Given the description of an element on the screen output the (x, y) to click on. 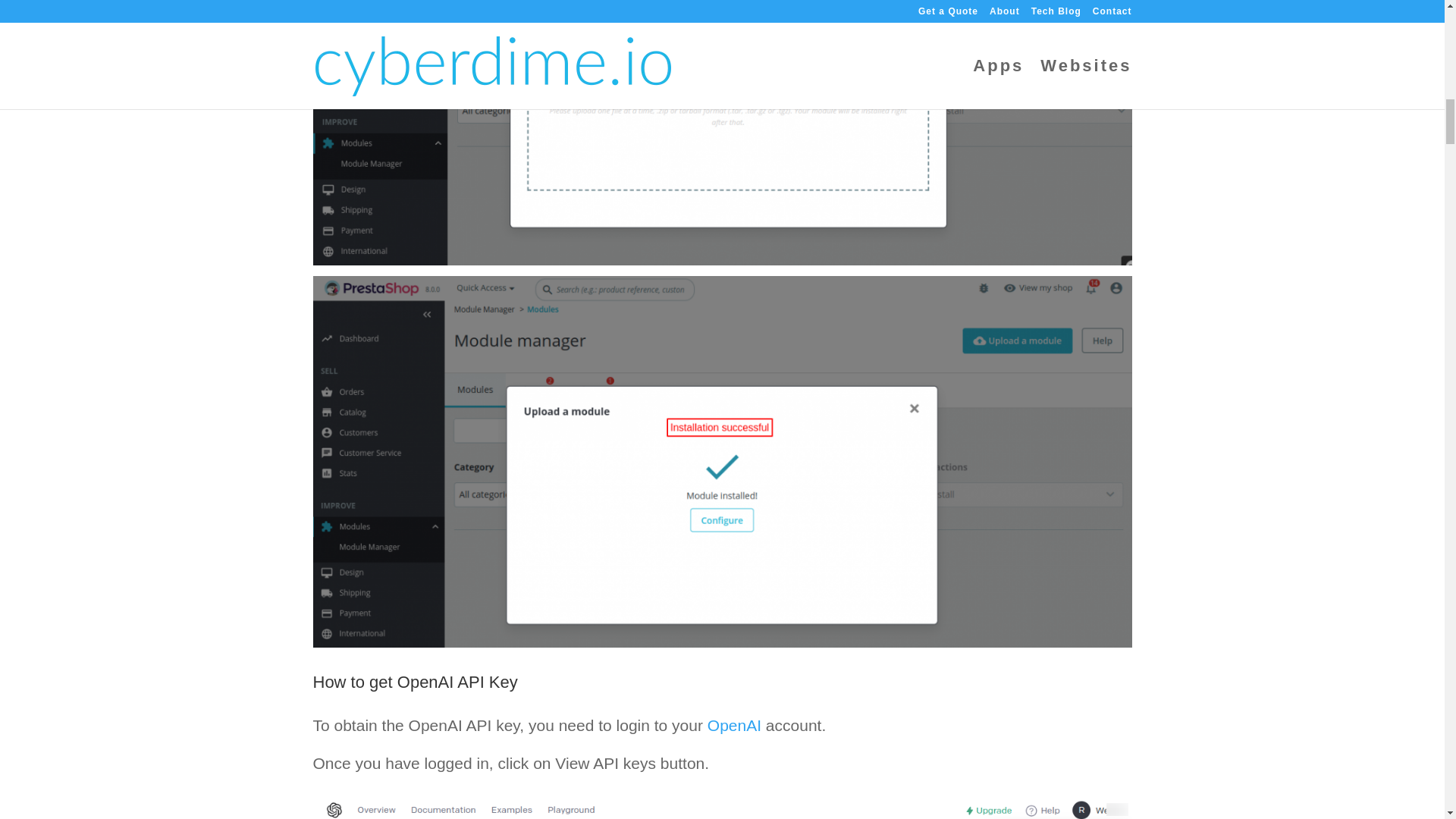
OpenAI (734, 724)
OpenAI (734, 724)
